Given the description of an element on the screen output the (x, y) to click on. 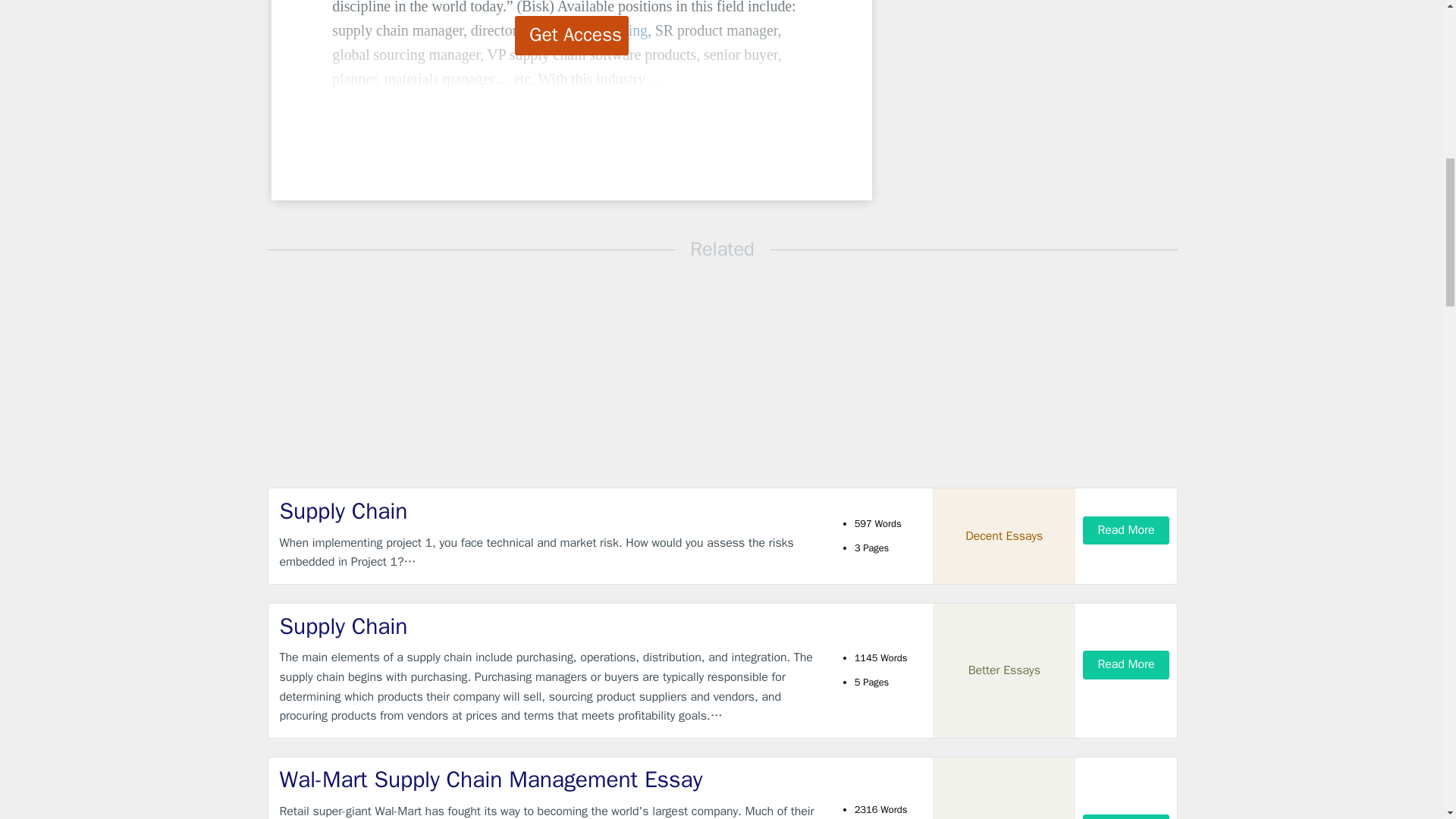
Read More (1126, 816)
Read More (1126, 530)
Get Access (571, 35)
Wal-Mart Supply Chain Management Essay (548, 779)
Supply Chain (548, 626)
Supply Chain (548, 511)
Read More (1126, 664)
marketing (616, 30)
